Given the description of an element on the screen output the (x, y) to click on. 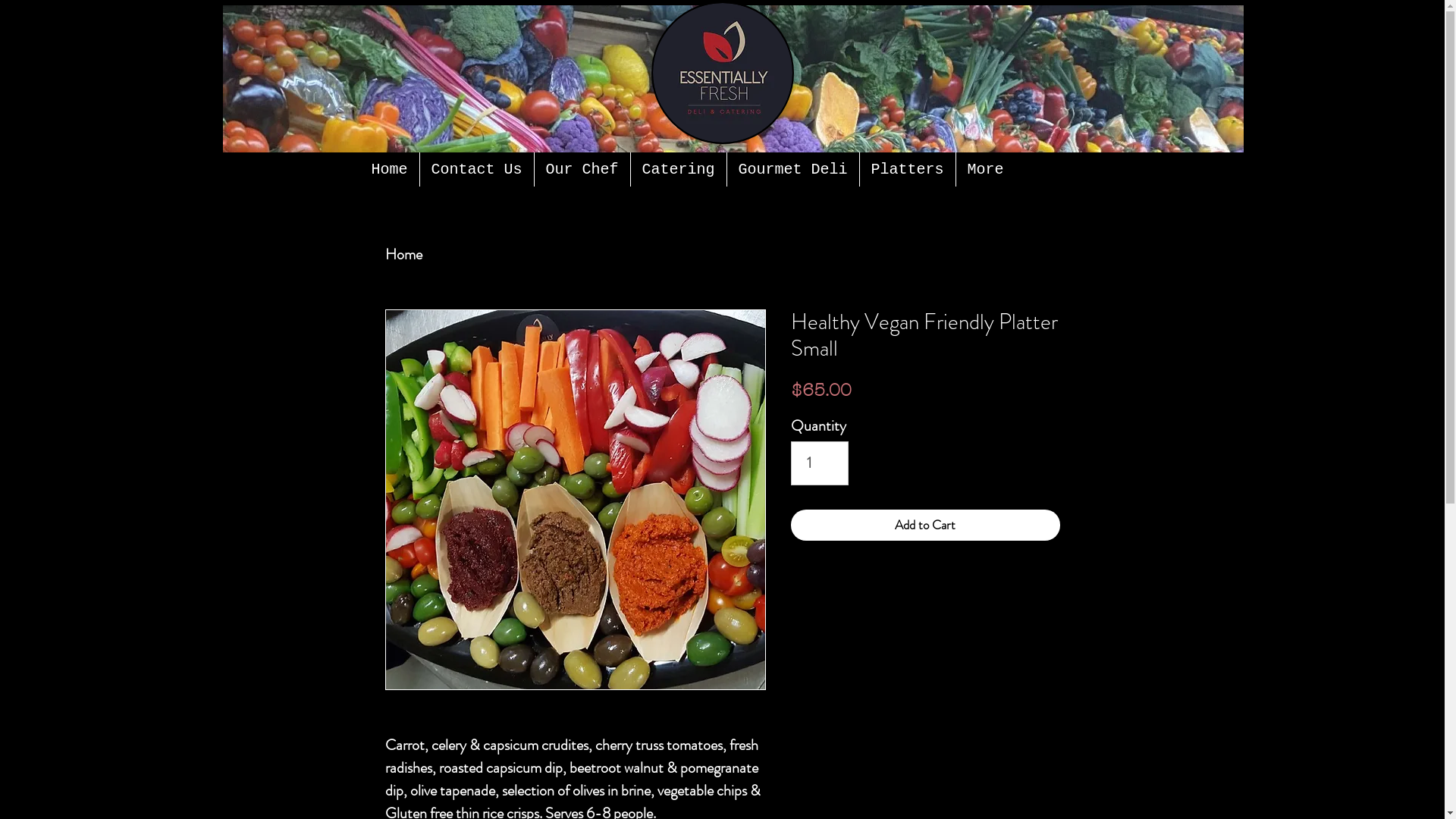
Home Element type: text (403, 254)
Our Chef Element type: text (581, 169)
Gourmet Deli Element type: text (792, 169)
Platters Element type: text (907, 169)
Catering Element type: text (678, 169)
Home Element type: text (388, 169)
Add to Cart Element type: text (924, 525)
Contact Us Element type: text (476, 169)
